Given the description of an element on the screen output the (x, y) to click on. 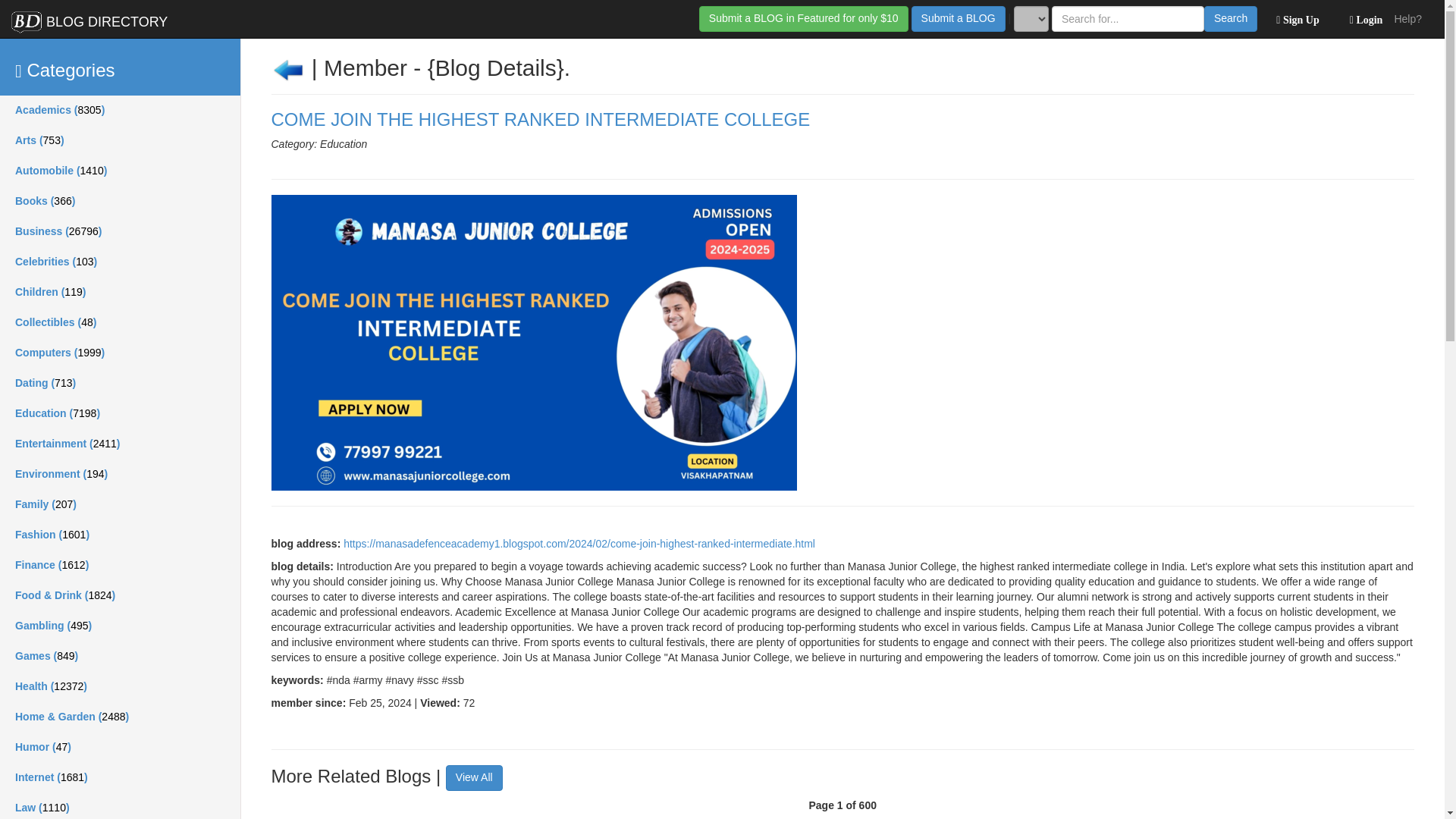
Log in (1362, 18)
Entertainment (120, 444)
Environment (120, 474)
Education (120, 413)
Arts (120, 141)
Help? (1406, 18)
View All (473, 777)
Dating (120, 383)
Home (89, 18)
Business (120, 232)
Books (120, 201)
Collectibles (120, 322)
Login (1362, 18)
Sign Up (1293, 18)
Children (120, 292)
